Given the description of an element on the screen output the (x, y) to click on. 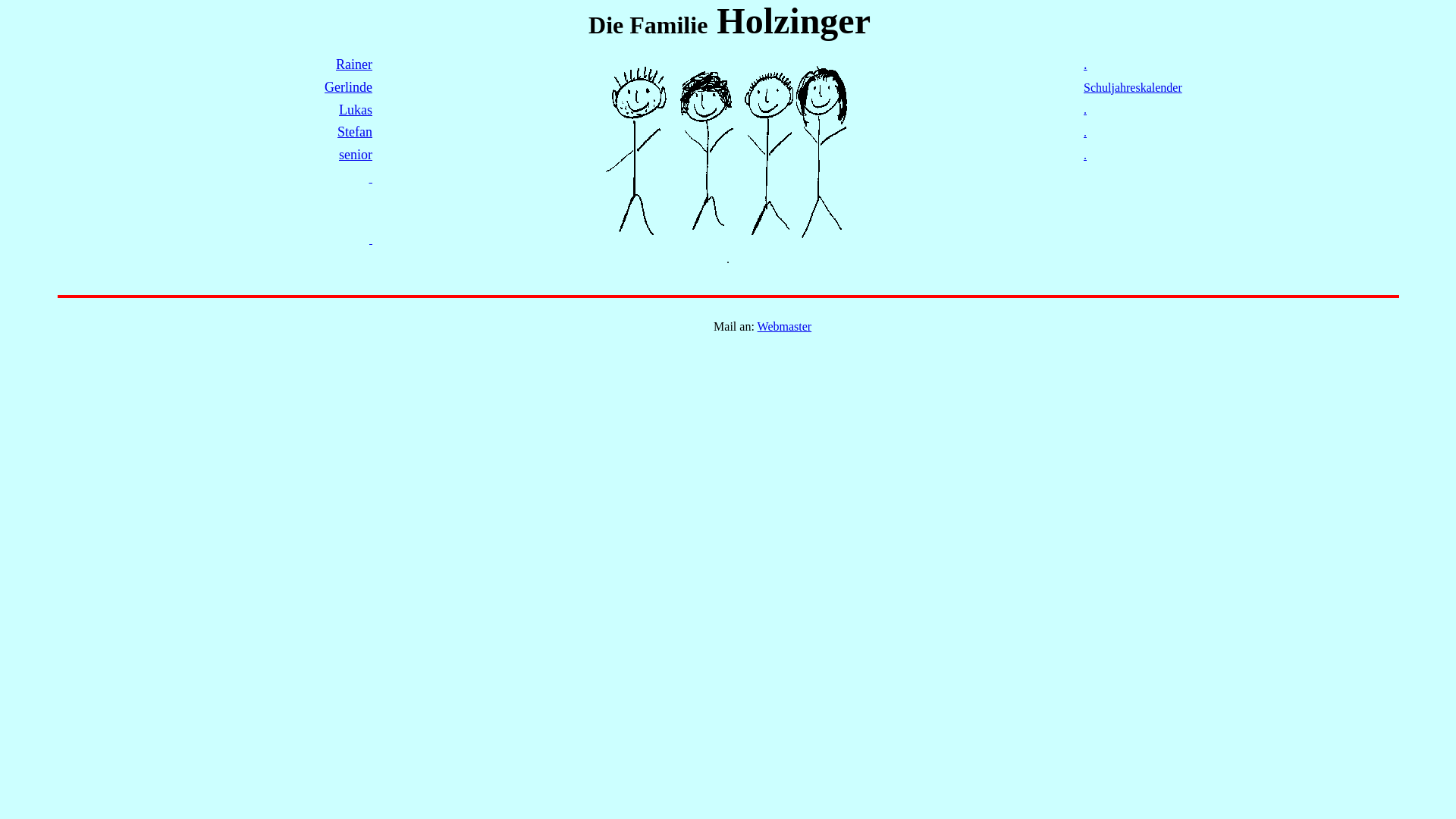
Lukas Element type: text (355, 109)
Gerlinde Element type: text (348, 87)
. Element type: text (1085, 64)
Schuljahreskalender Element type: text (1132, 87)
  Element type: text (586, 28)
senior Element type: text (355, 154)
. Element type: text (1084, 131)
. Element type: text (1084, 109)
Stefan Element type: text (354, 131)
Webmaster Element type: text (784, 326)
. Element type: text (1084, 154)
  Element type: text (370, 238)
  Element type: text (370, 177)
Rainer Element type: text (353, 64)
